Given the description of an element on the screen output the (x, y) to click on. 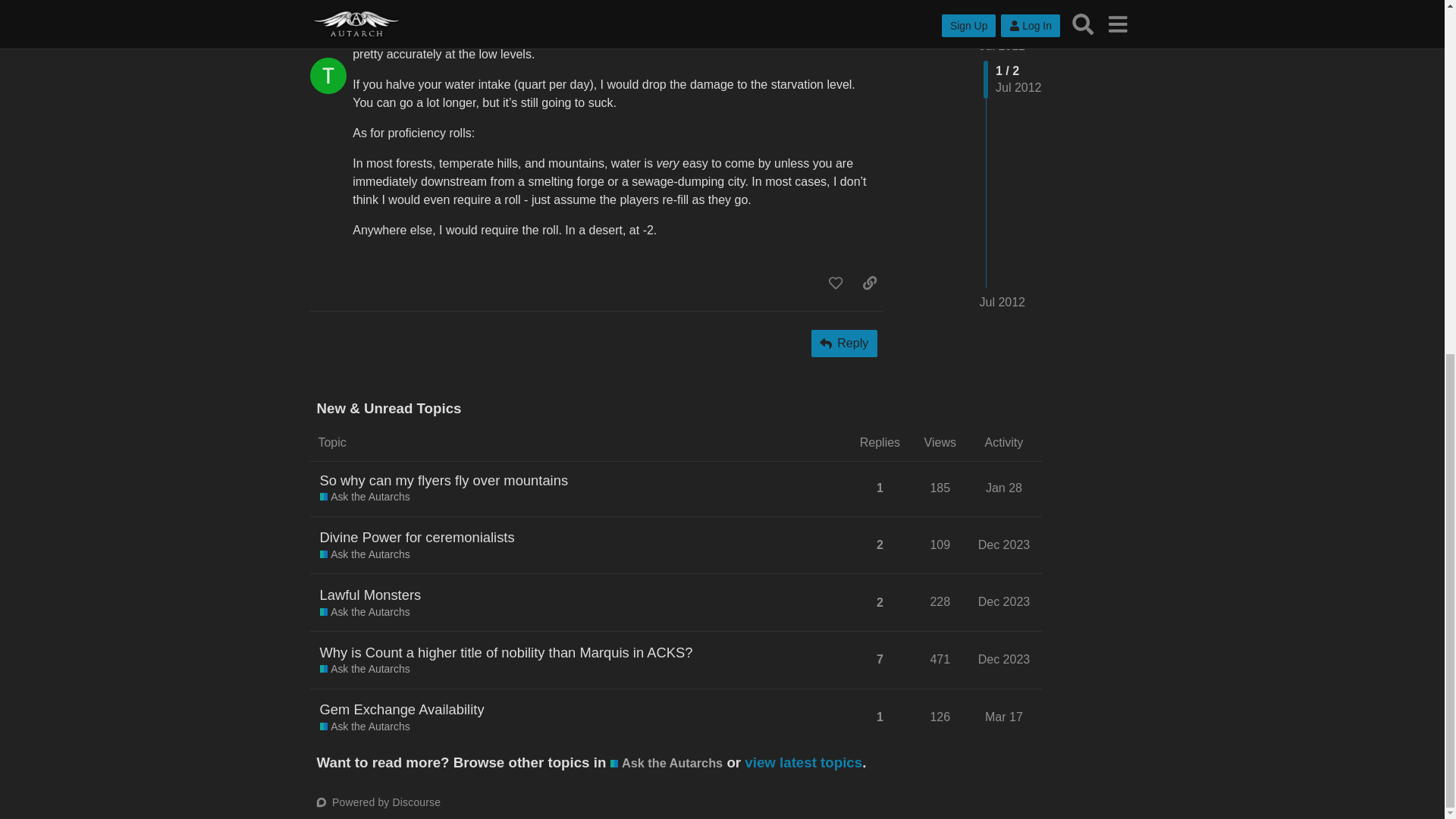
Divine Power for ceremonialists (417, 536)
Ask the Autarchs (365, 612)
Lawful Monsters (371, 594)
Ask the Autarchs (365, 497)
Dec 2023 (1003, 544)
Jan 28 (1003, 488)
Ask the Autarchs (365, 554)
Reply (843, 343)
So why can my flyers fly over mountains (444, 480)
